Given the description of an element on the screen output the (x, y) to click on. 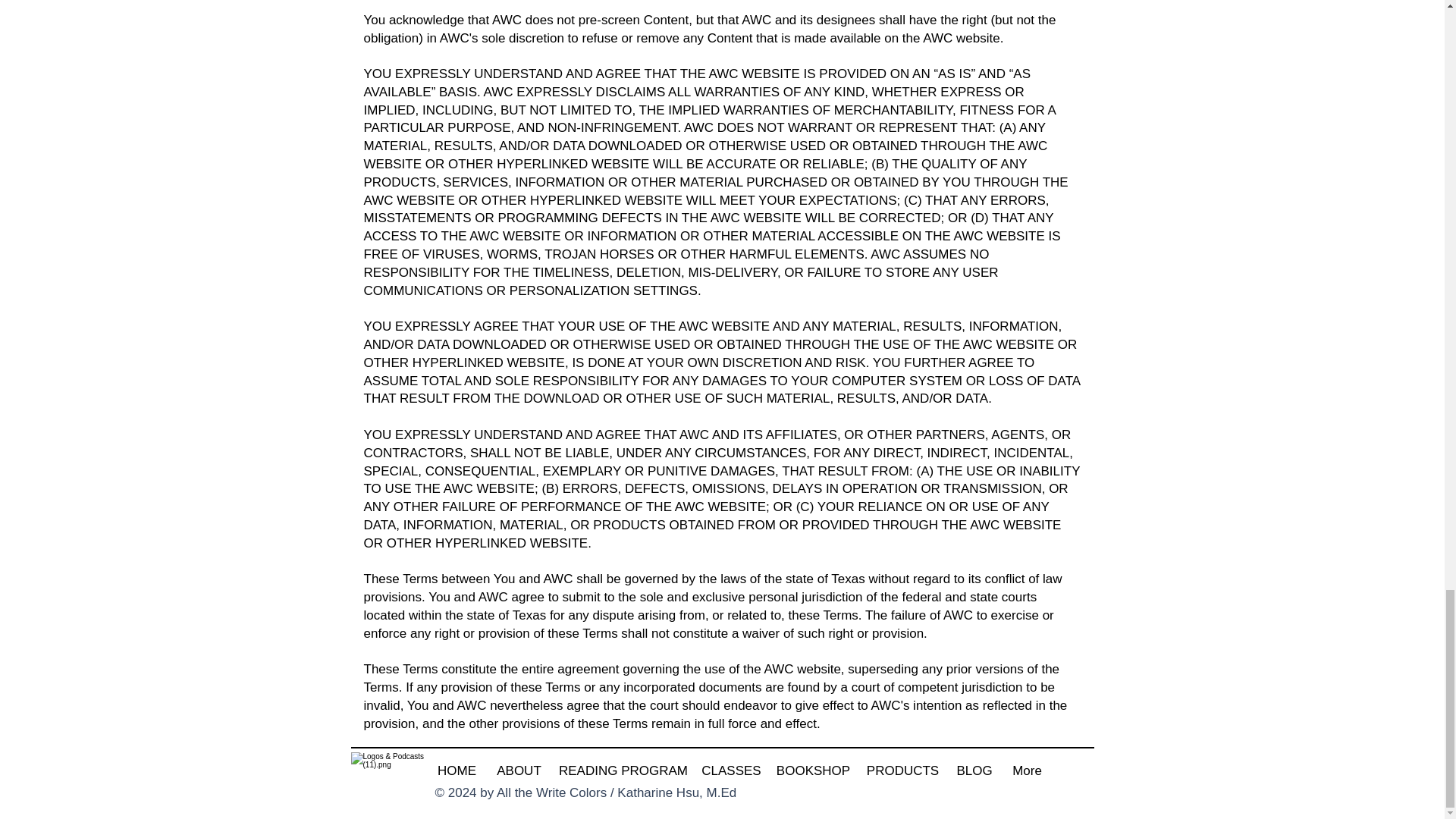
ABOUT (518, 771)
HOME (455, 771)
BOOKSHOP (813, 771)
CLASSES (731, 771)
BLOG (974, 771)
PRODUCTS (903, 771)
READING PROGRAM (622, 771)
